Given the description of an element on the screen output the (x, y) to click on. 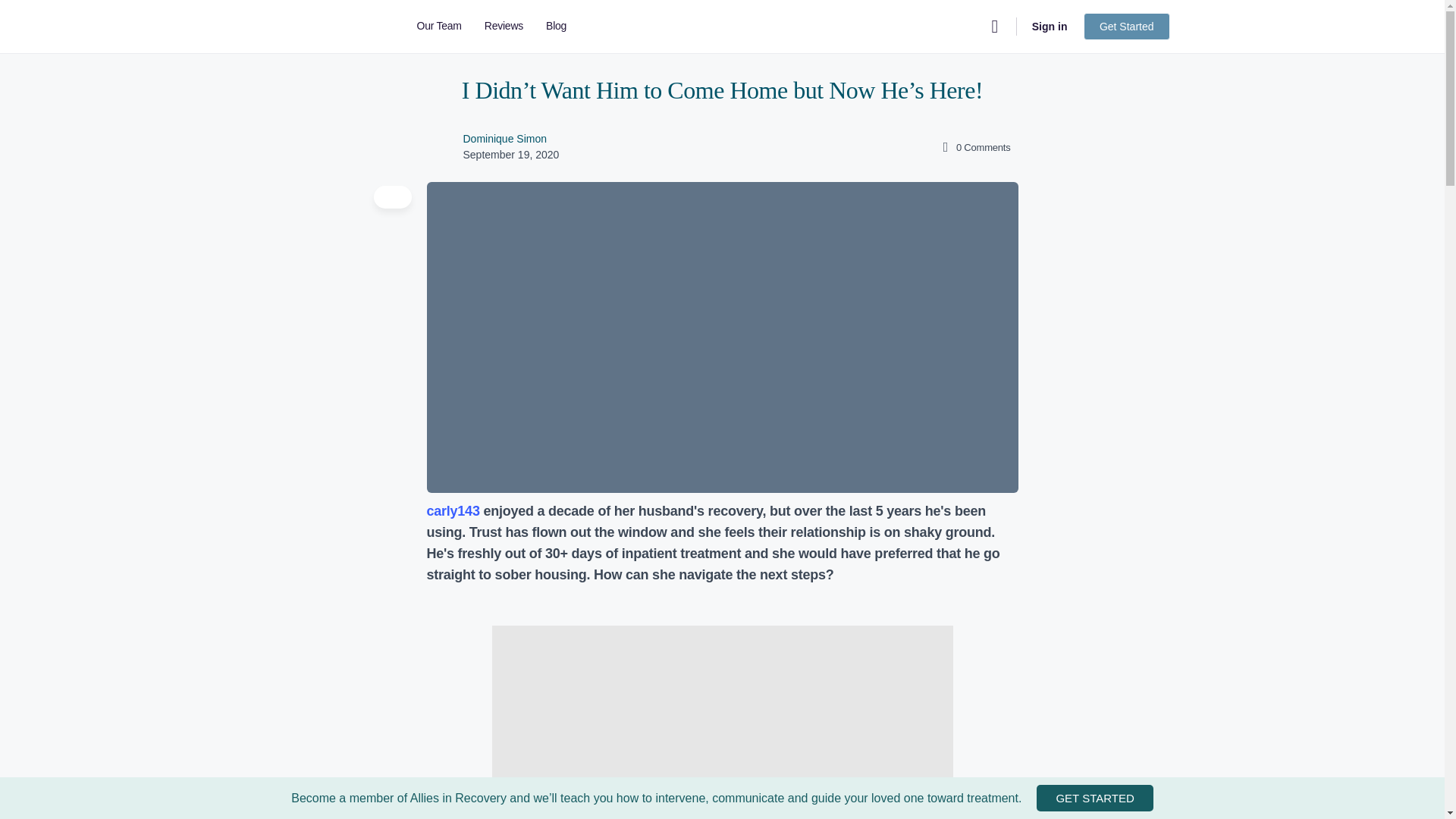
Reviews (504, 26)
Our Team (438, 26)
GET STARTED (1094, 797)
Get Started (1126, 26)
0 Comments (974, 147)
September 19, 2020 (511, 154)
Sign in (1050, 26)
Dominique Simon (505, 138)
carly143 (452, 510)
